Given the description of an element on the screen output the (x, y) to click on. 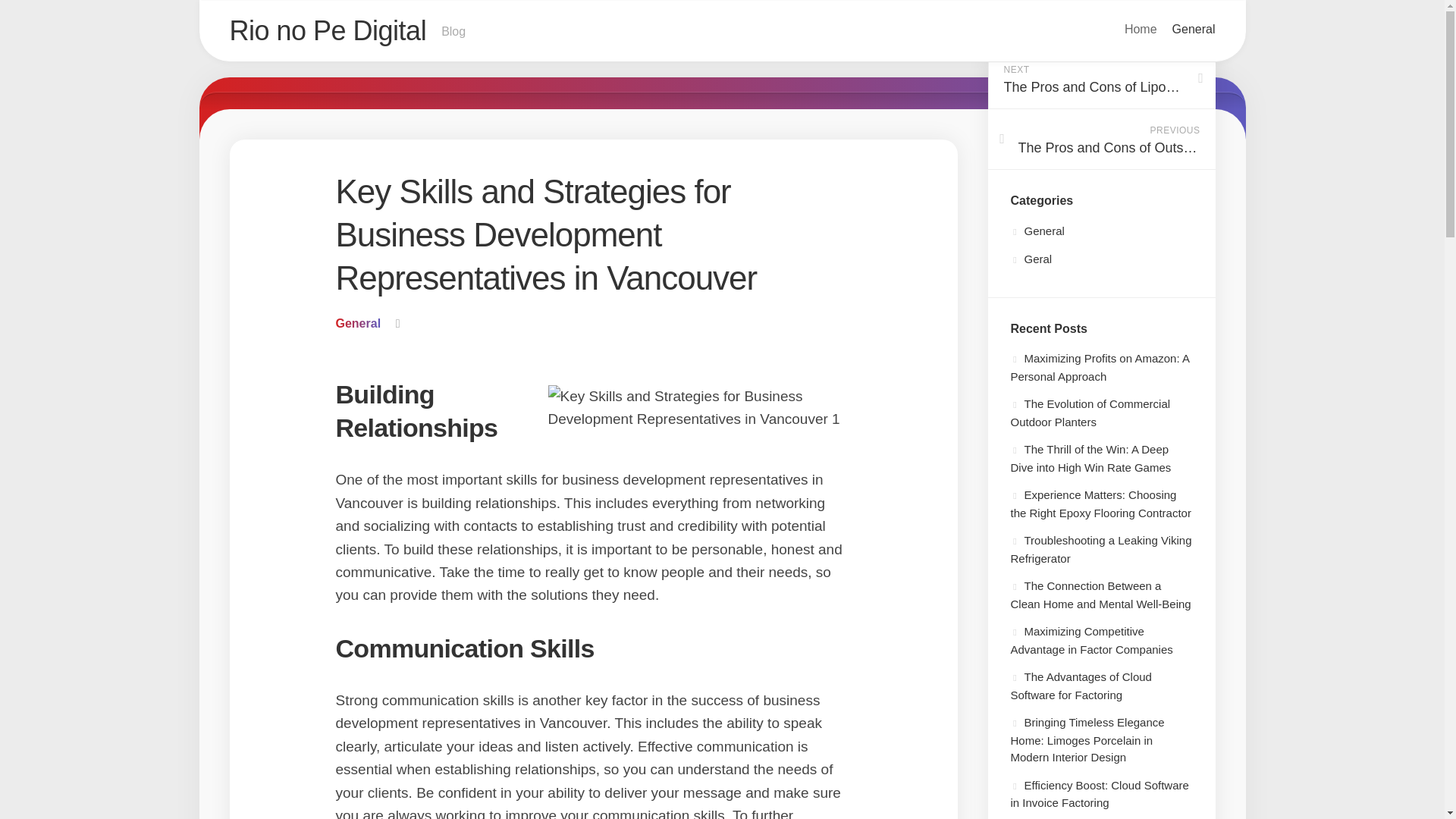
General (1193, 29)
Home (1140, 29)
General (357, 323)
General (1037, 230)
Rio no Pe Digital (327, 31)
Efficiency Boost: Cloud Software in Invoice Factoring (1099, 793)
Maximizing Competitive Advantage in Factor Companies (1091, 640)
The Thrill of the Win: A Deep Dive into High Win Rate Games (1090, 458)
